Given the description of an element on the screen output the (x, y) to click on. 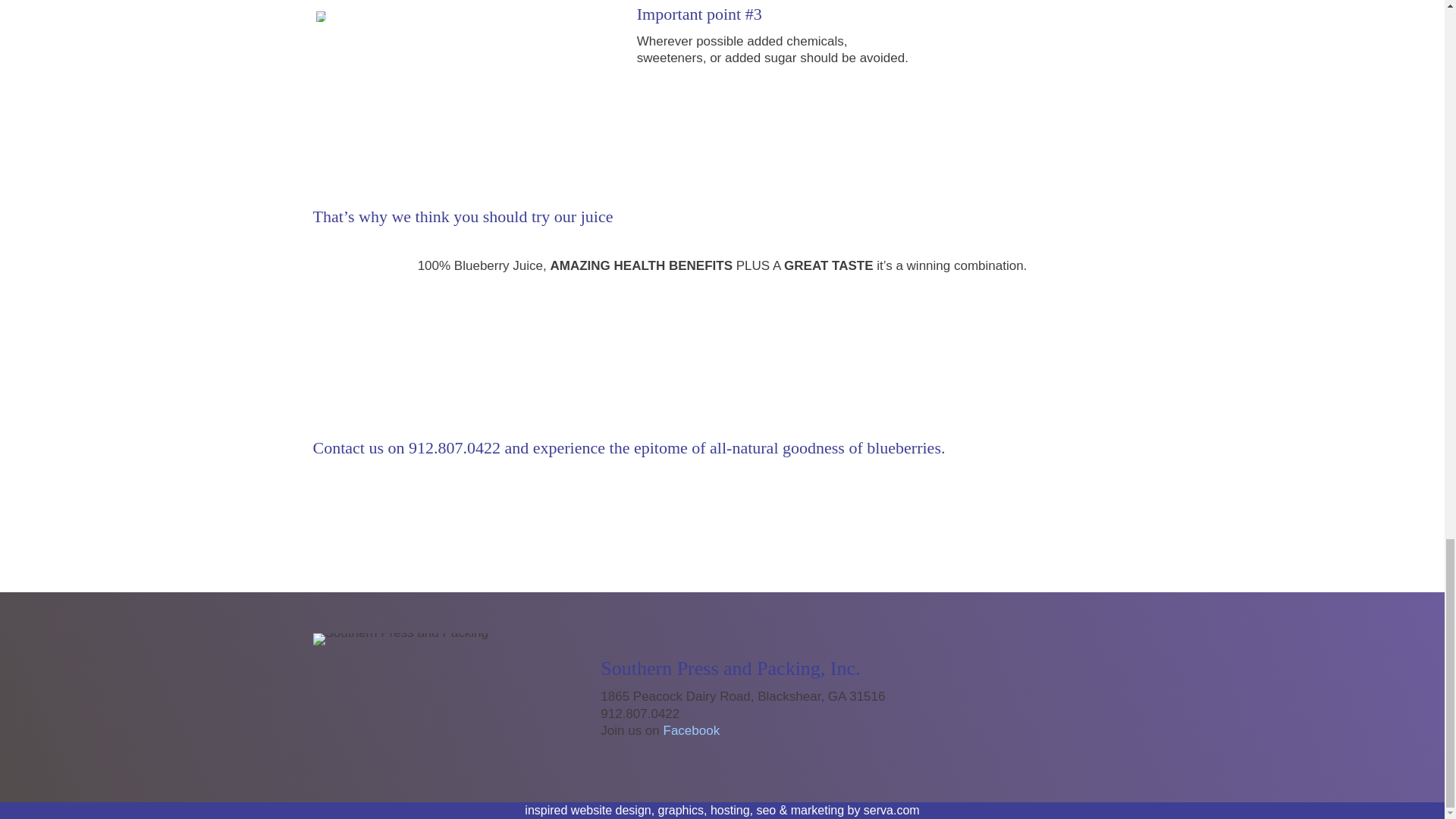
Facebook (691, 730)
however you look at it - look your best with serva (891, 809)
Contact us on (358, 447)
serva.com (891, 809)
